Given the description of an element on the screen output the (x, y) to click on. 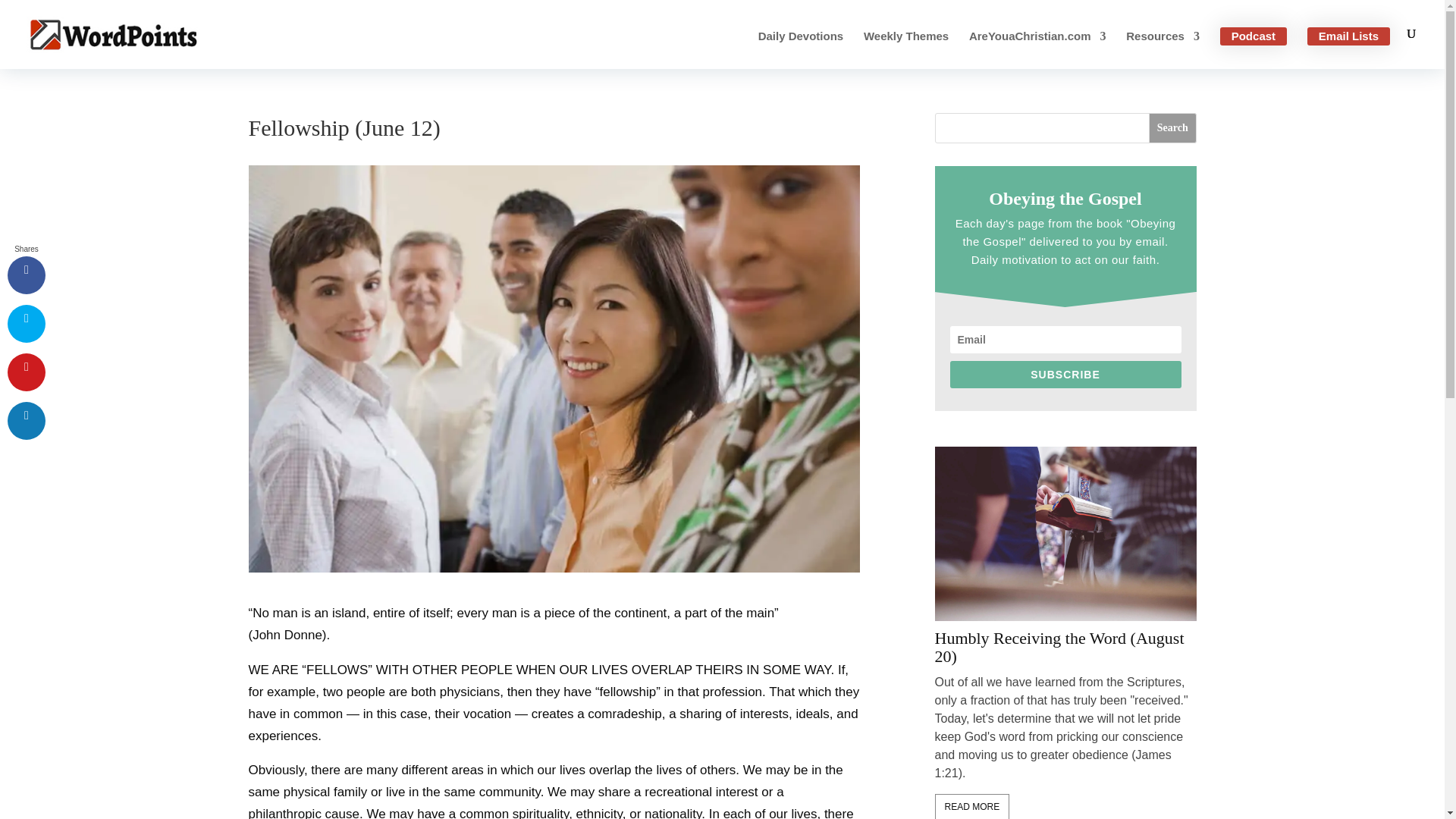
Weekly Themes (906, 49)
AreYouaChristian.com (1037, 49)
Daily Devotions (801, 49)
Resources (1162, 49)
Email Lists (1348, 36)
Search (1172, 128)
Podcast (1253, 36)
